Given the description of an element on the screen output the (x, y) to click on. 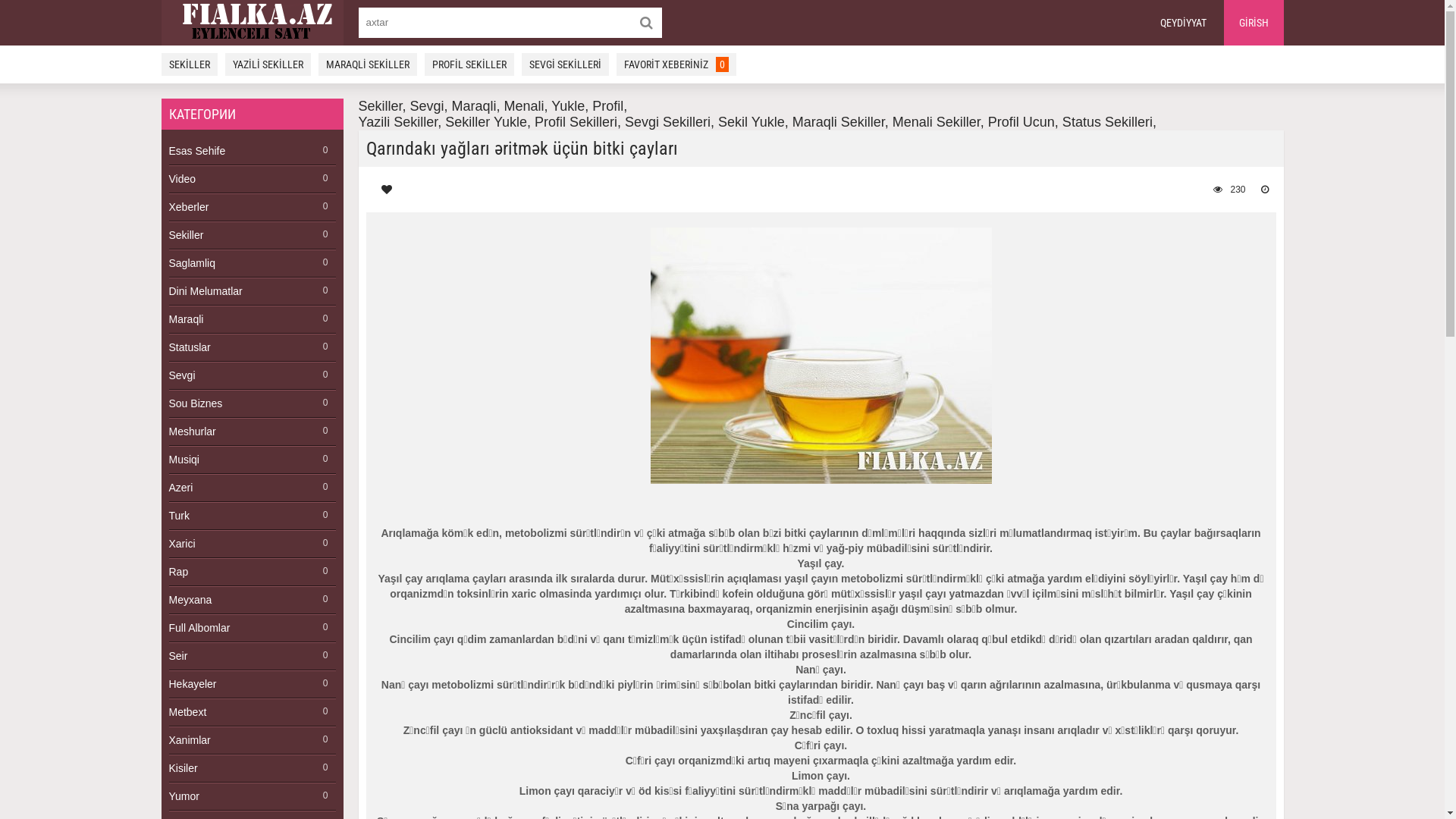
Hekayeler Element type: text (251, 684)
Meyxana Element type: text (251, 600)
Sou Biznes Element type: text (251, 403)
Meshurlar Element type: text (251, 431)
FAVORIT XEBERINIZ0 Element type: text (675, 64)
Maraqli Element type: text (251, 319)
SEVGI SEKILLERI Element type: text (564, 64)
YAZILI SEKILLER Element type: text (267, 64)
Video Element type: text (251, 179)
Musiqi Element type: text (251, 459)
Statuslar Element type: text (251, 347)
Azeri Element type: text (251, 487)
Xanimlar Element type: text (251, 740)
Full Albomlar Element type: text (251, 628)
Seir Element type: text (251, 656)
QEYDIYYAT Element type: text (1183, 22)
Yumor Element type: text (251, 796)
Rap Element type: text (251, 572)
Metbext Element type: text (251, 712)
Sekiller Element type: text (251, 235)
Turk Element type: text (251, 516)
Sevgi Element type: text (251, 375)
Esas Sehife Element type: text (251, 151)
Kisiler Element type: text (251, 768)
PROFIL SEKILLER Element type: text (469, 64)
SEKILLER Element type: text (188, 64)
Saglamliq Element type: text (251, 263)
Dini Melumatlar Element type: text (251, 291)
Xeberler Element type: text (251, 207)
MARAQLI SEKILLER Element type: text (367, 64)
Xarici Element type: text (251, 544)
